Given the description of an element on the screen output the (x, y) to click on. 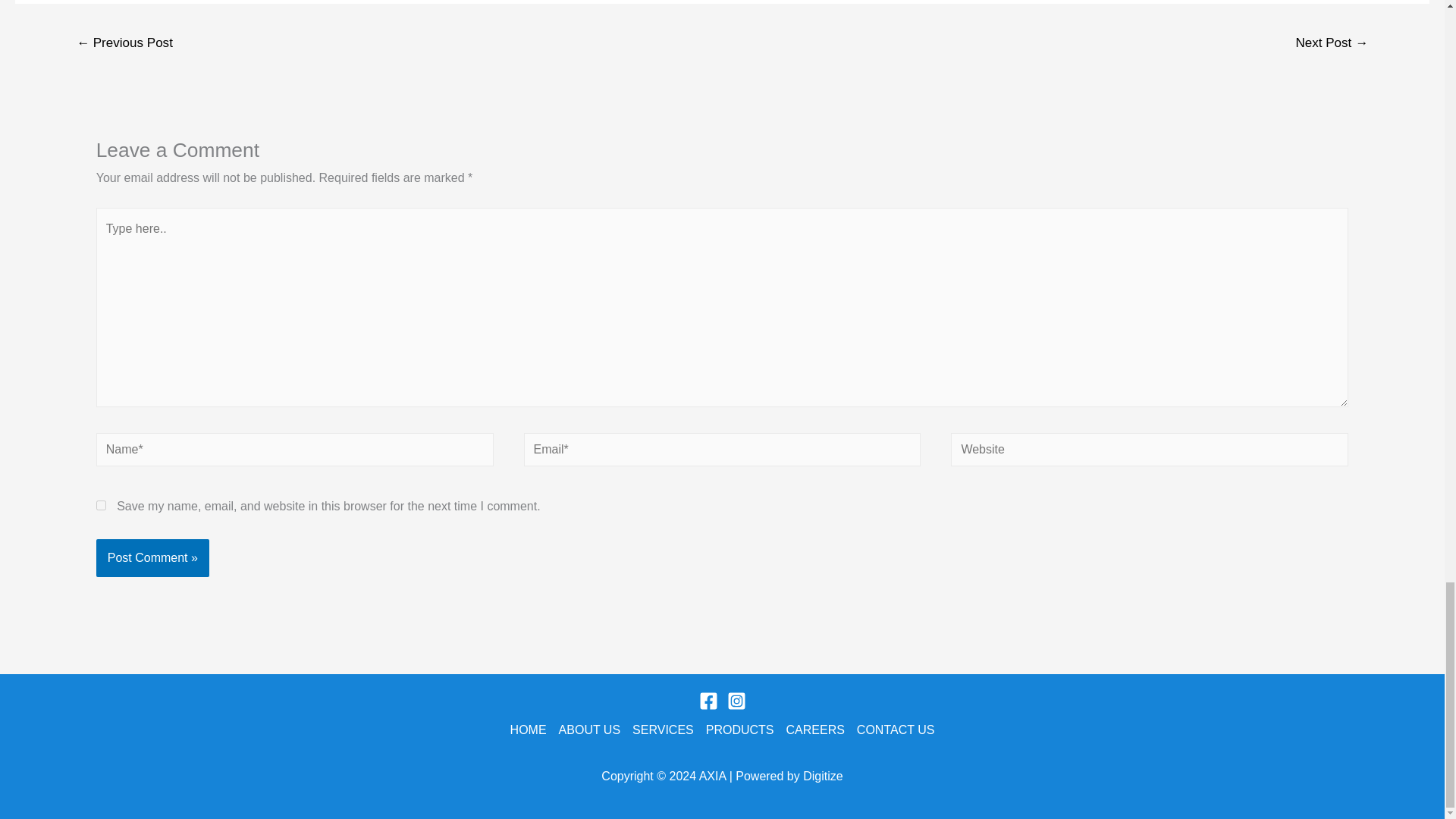
yes (101, 505)
